Given the description of an element on the screen output the (x, y) to click on. 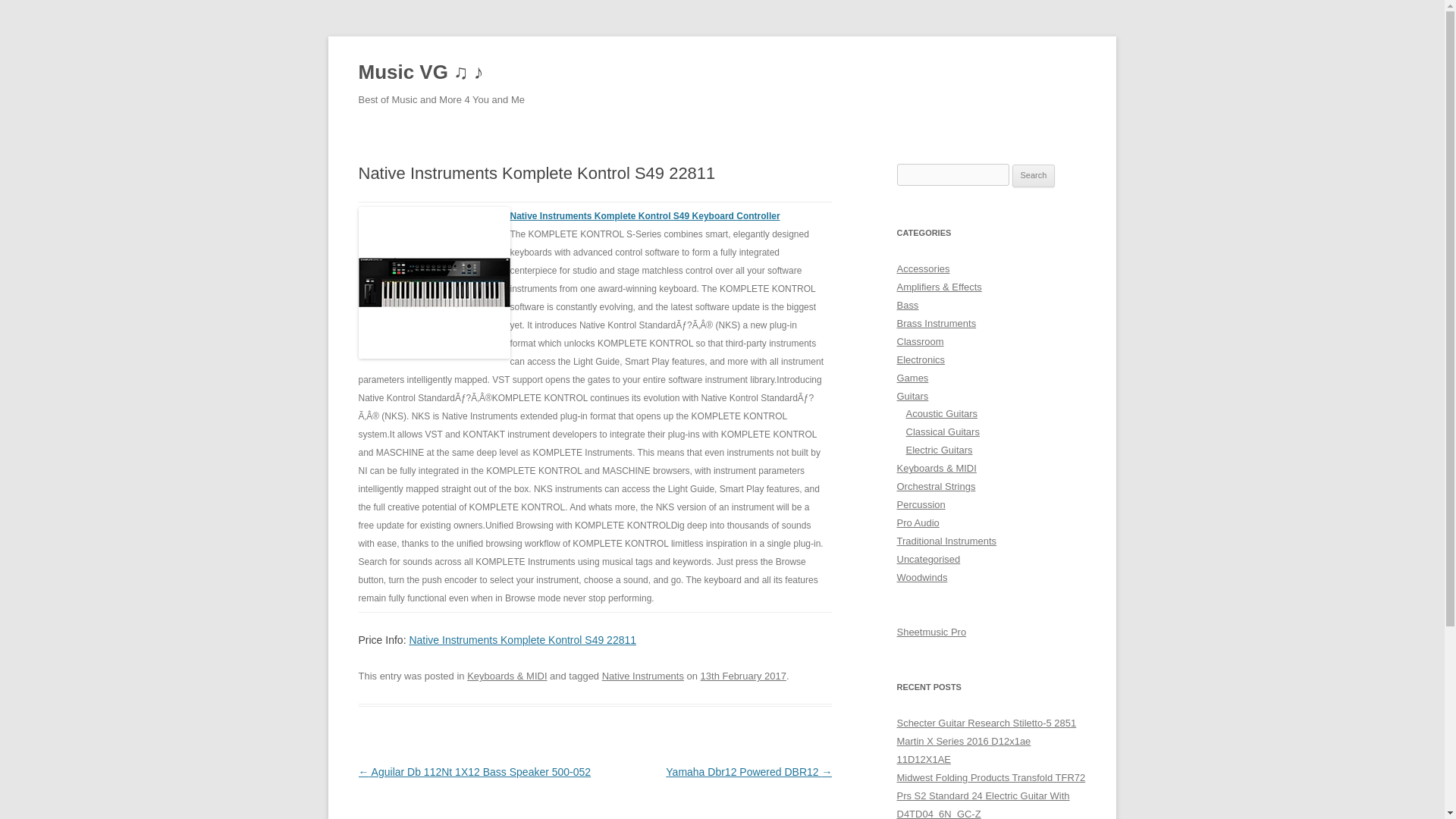
7:06 am (743, 675)
Native Instruments (643, 675)
Brass Instruments (935, 323)
Games (912, 378)
Accessories (922, 268)
Electronics (920, 359)
Classroom (919, 341)
Traditional Instruments (945, 541)
Woodwinds (921, 577)
Native Instruments Komplete Kontrol S49 22811 (522, 639)
